Given the description of an element on the screen output the (x, y) to click on. 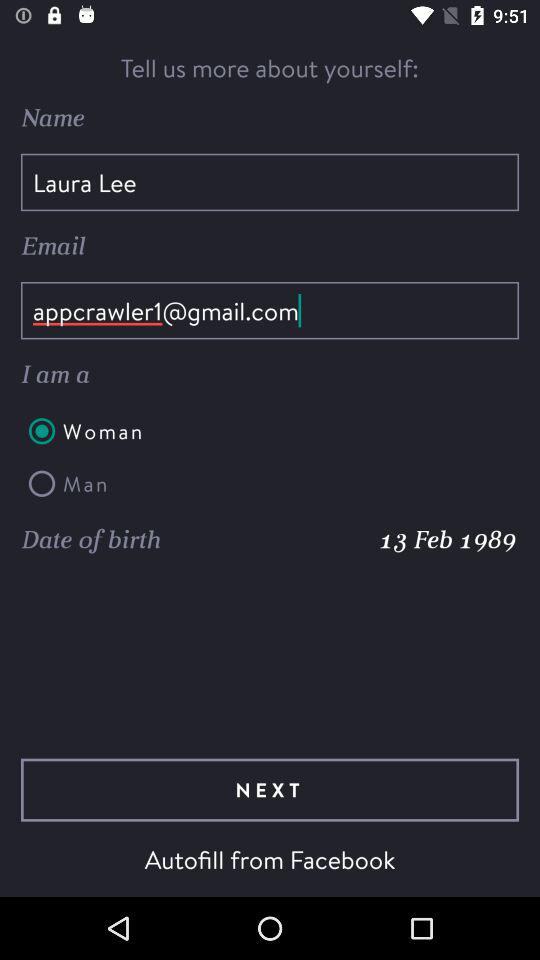
click laura lee (269, 182)
